Given the description of an element on the screen output the (x, y) to click on. 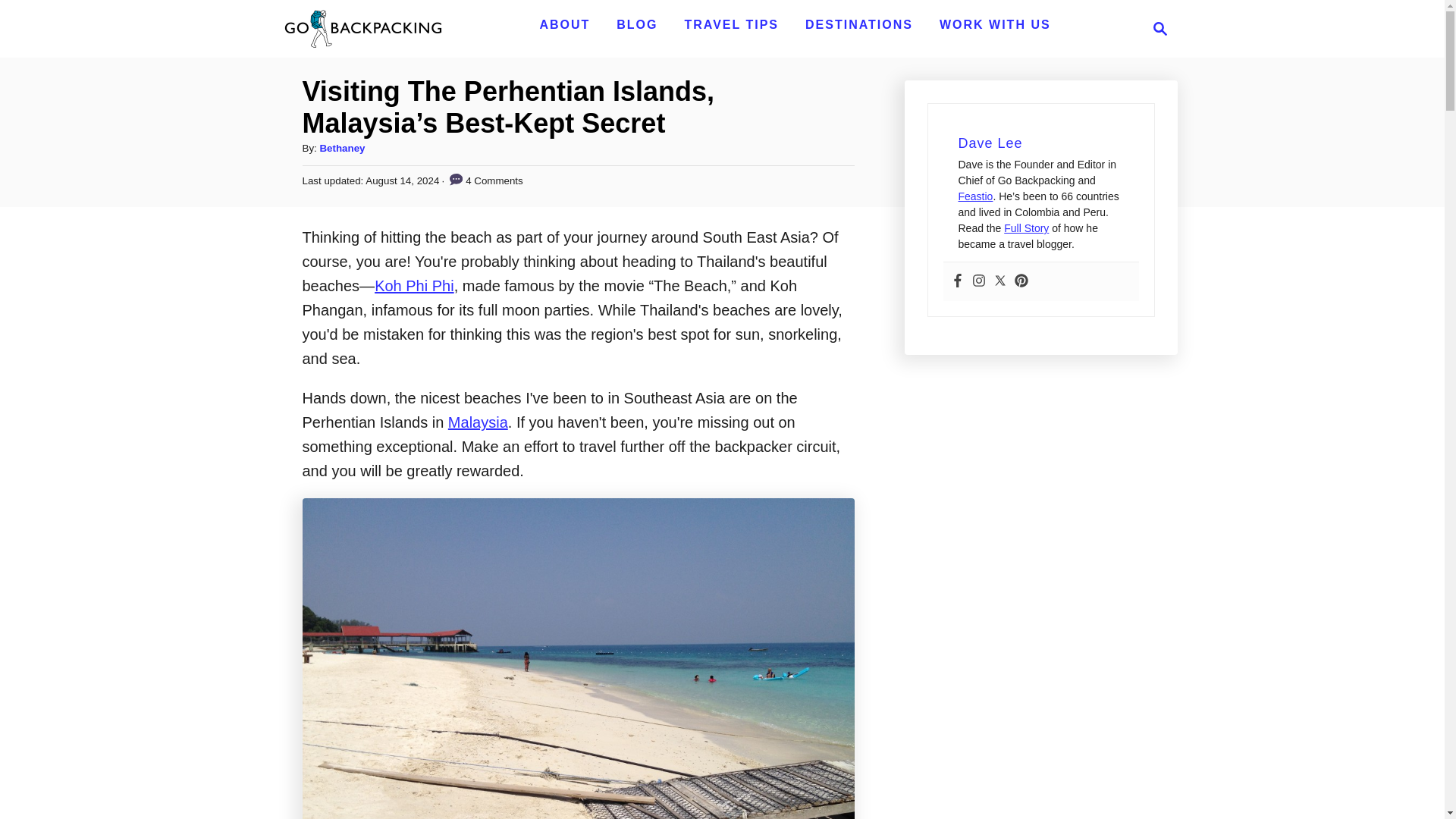
Travel Tips (731, 24)
TRAVEL TIPS (1155, 28)
BLOG (731, 24)
Destinations (636, 24)
ABOUT (858, 24)
Blog (563, 24)
About (636, 24)
DESTINATIONS (563, 24)
Magnifying Glass (858, 24)
